Given the description of an element on the screen output the (x, y) to click on. 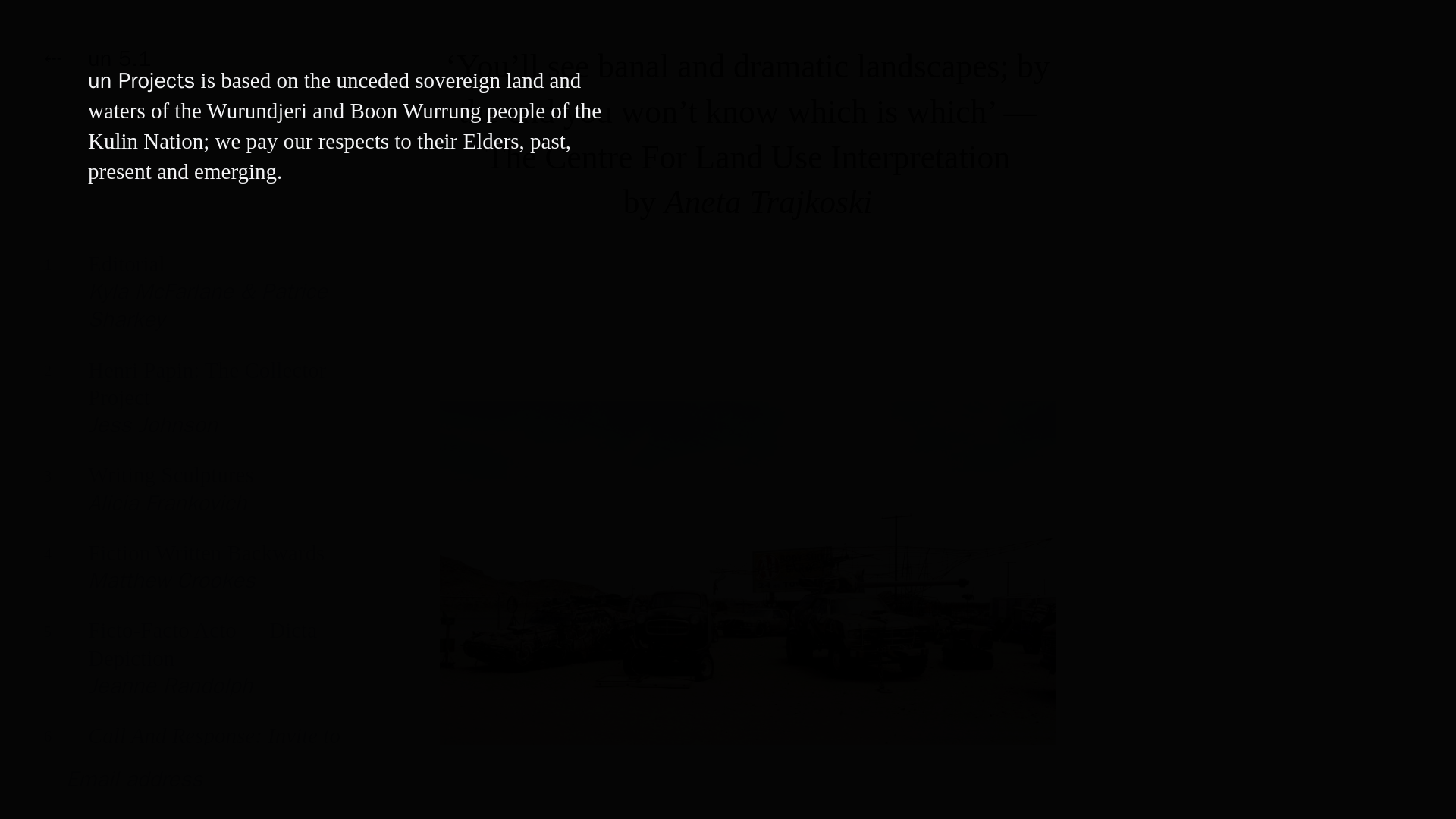
Posts by Aneta Trajkoski (197, 577)
Aneta Trajkoski (767, 201)
